Given the description of an element on the screen output the (x, y) to click on. 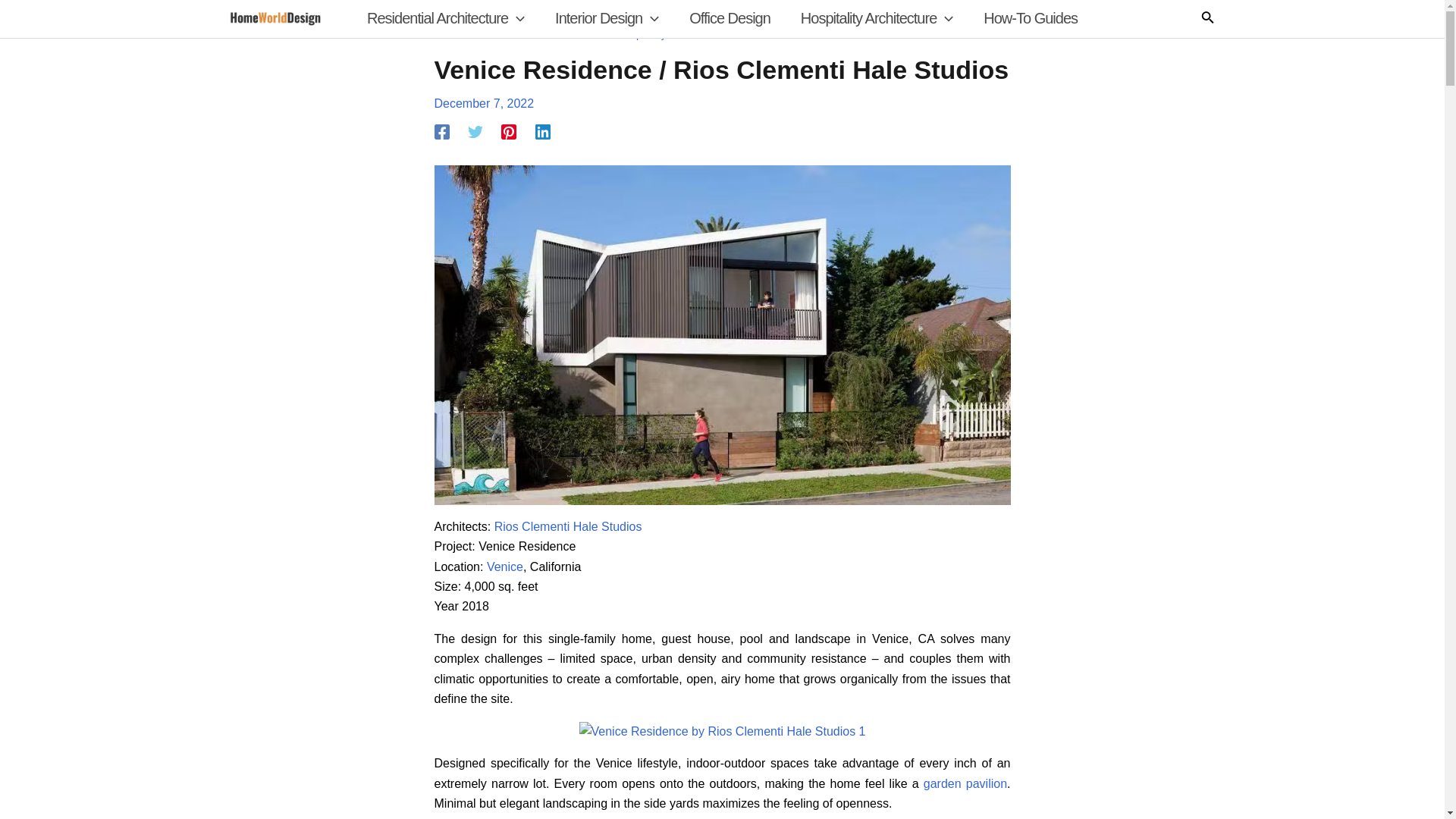
Interior Design (607, 18)
How-To Guides (1030, 18)
Hospitality Architecture (877, 18)
Residential Architecture (446, 18)
Office Design (730, 18)
